Given the description of an element on the screen output the (x, y) to click on. 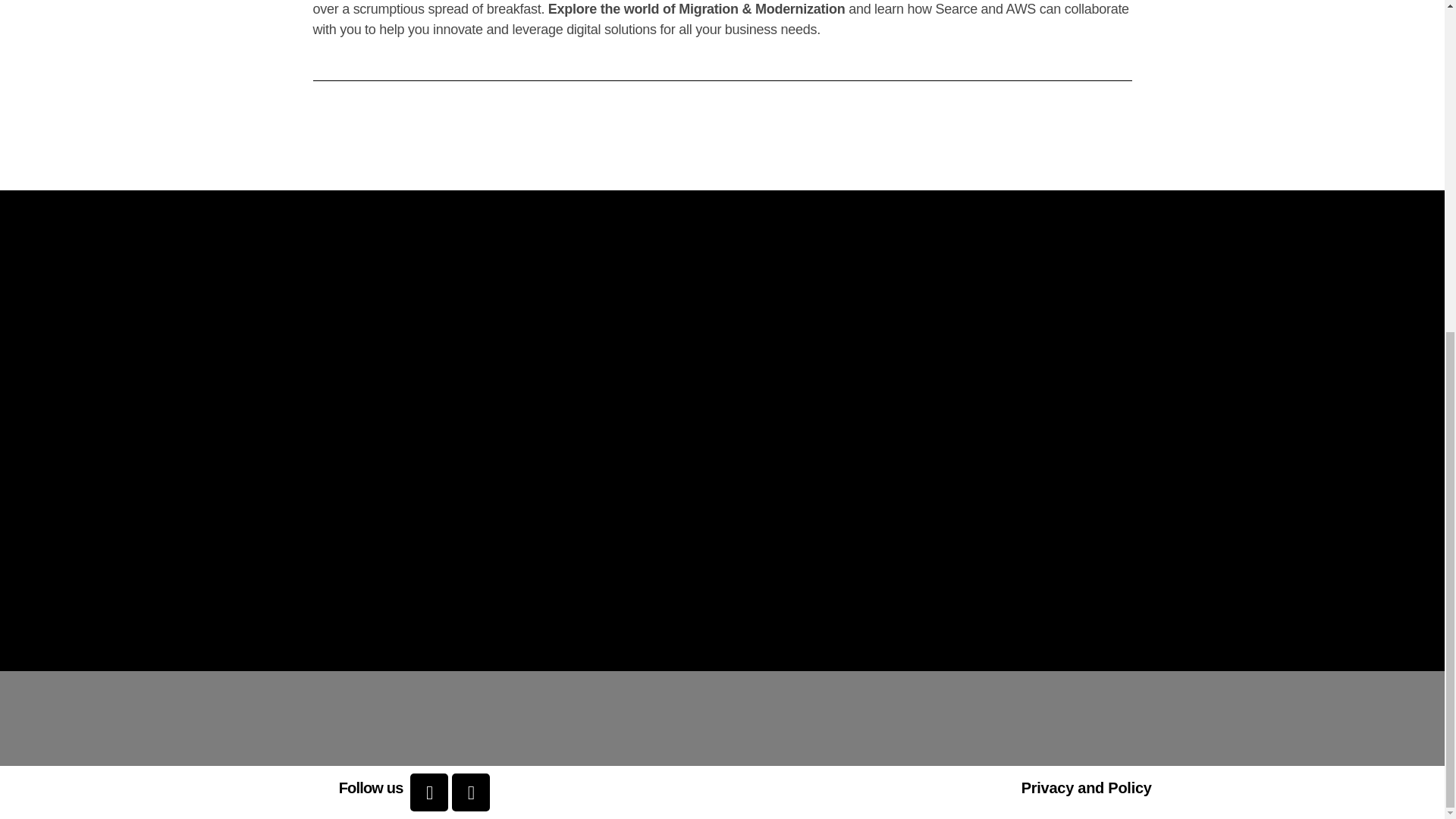
Privacy and Policy (1086, 787)
